Given the description of an element on the screen output the (x, y) to click on. 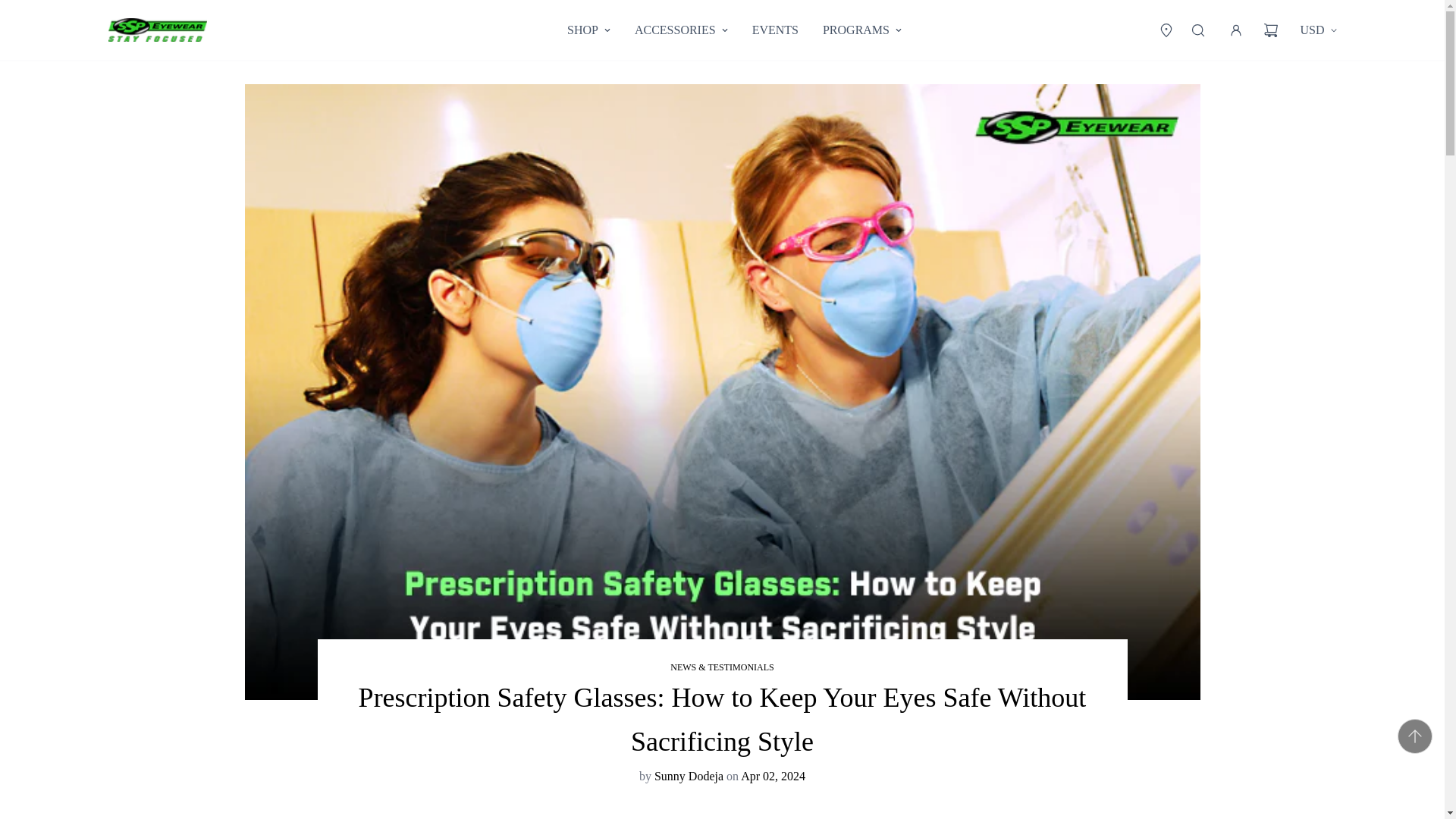
EVENTS (774, 29)
PROGRAMS (862, 29)
ACCESSORIES (681, 29)
SSP Eyewear (156, 29)
SHOP (734, 29)
